Given the description of an element on the screen output the (x, y) to click on. 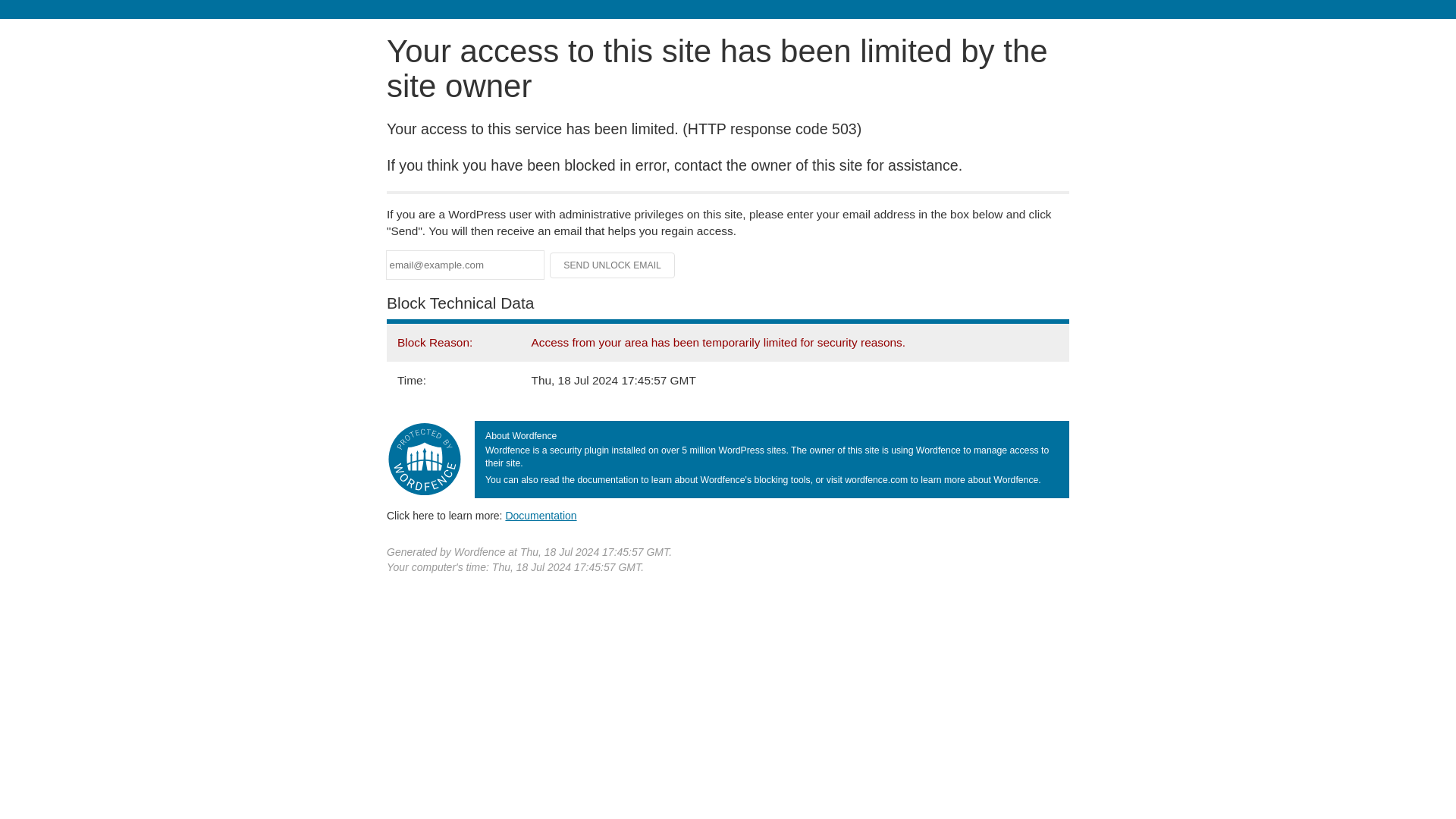
Send Unlock Email (612, 265)
Send Unlock Email (612, 265)
Documentation (540, 515)
